Given the description of an element on the screen output the (x, y) to click on. 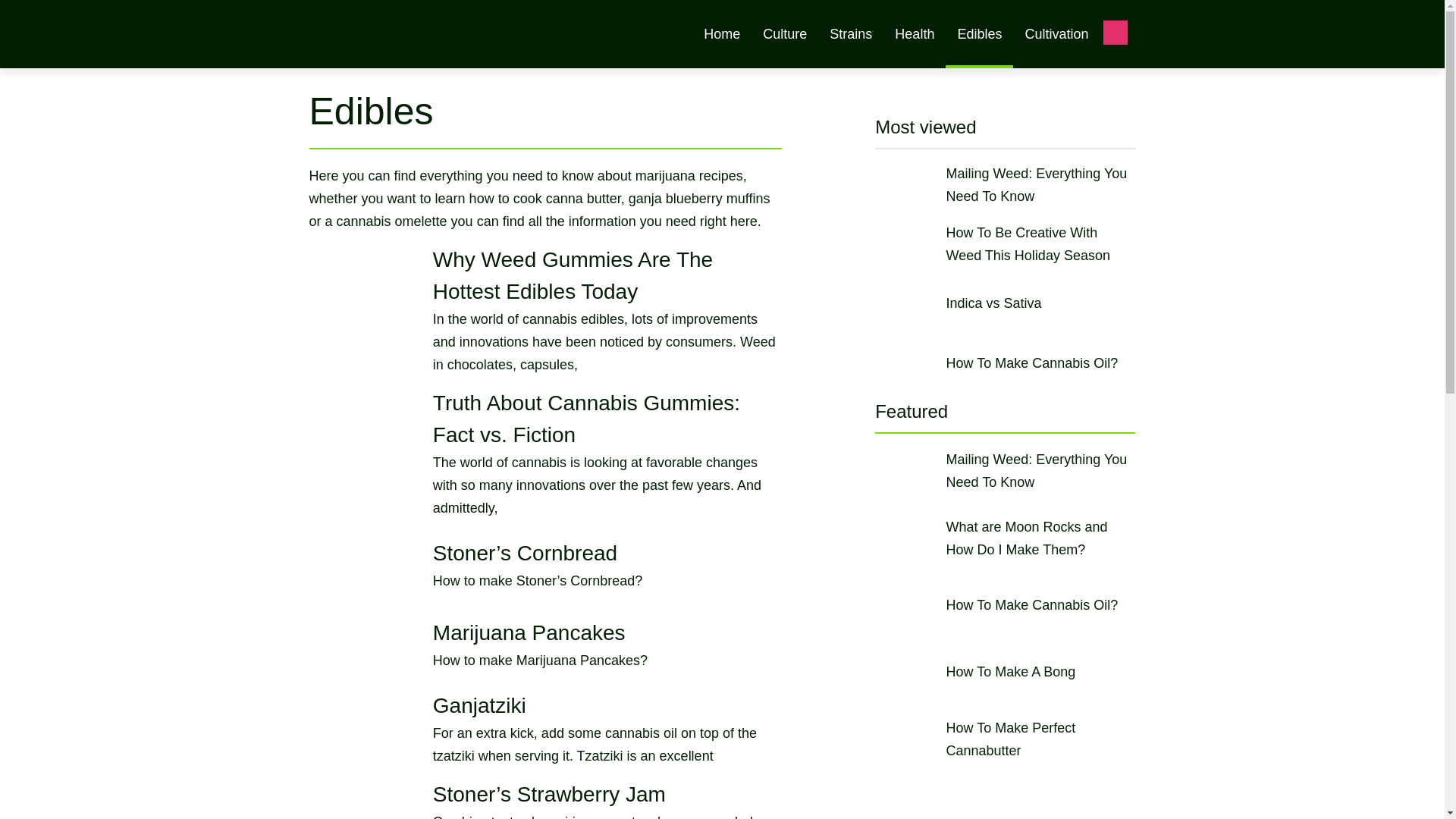
Home (721, 33)
How To Make A Bong (1005, 671)
How To Make Cannabis Oil? (1005, 362)
Smokers ONLY (441, 43)
Cultivation (1056, 33)
What are Moon Rocks and How Do I Make Them? (1005, 538)
Mailing Weed: Everything You Need To Know (1005, 184)
Health (914, 33)
Culture (784, 33)
Indica vs Sativa (1005, 303)
How To Make Perfect Cannabutter (1005, 739)
Mailing Weed: Everything You Need To Know (1005, 470)
Edibles (978, 32)
How To Make Cannabis Oil? (1005, 604)
